Given the description of an element on the screen output the (x, y) to click on. 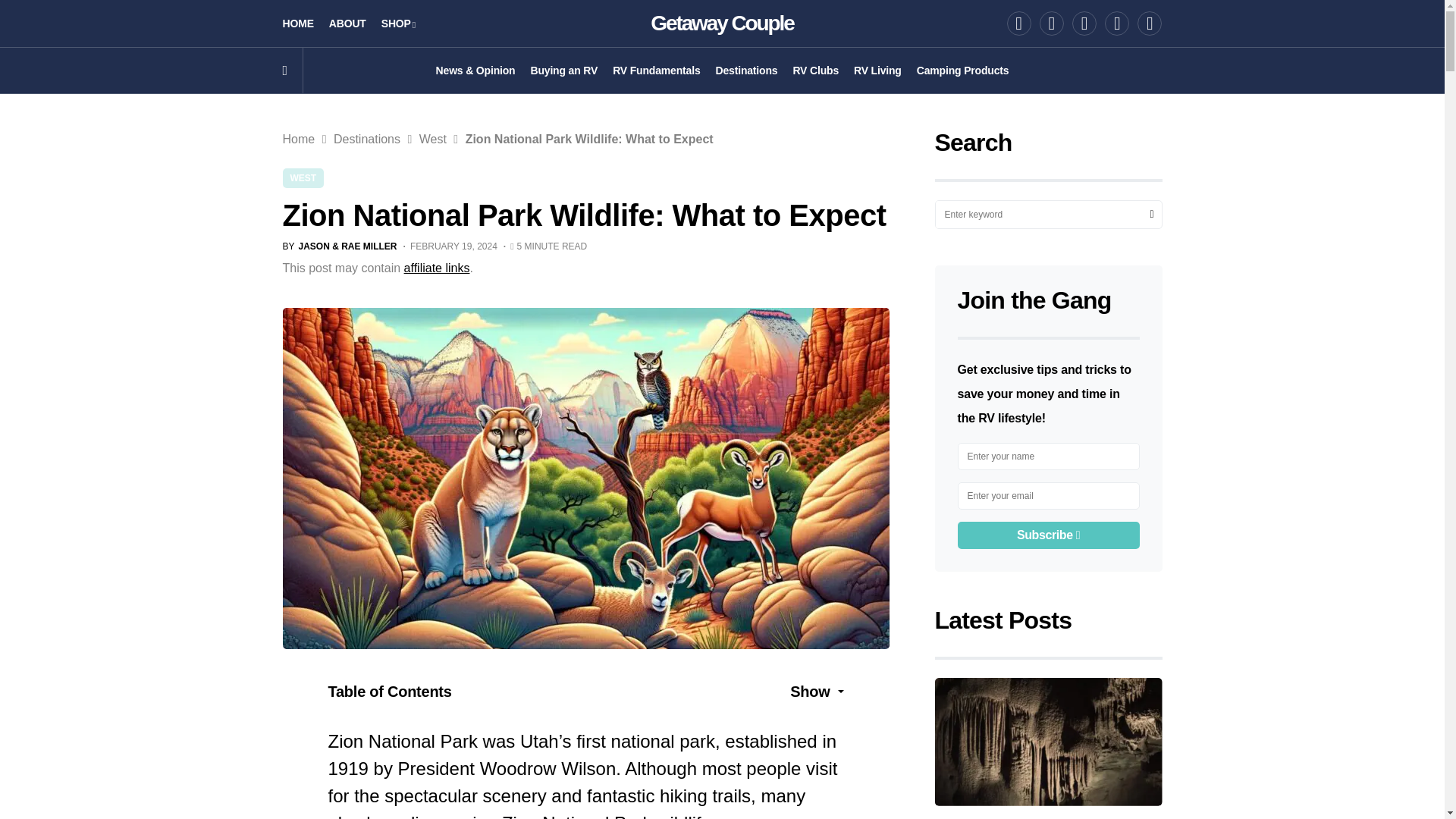
RV Clubs (815, 70)
Home (298, 138)
Destinations (746, 70)
RV Living (877, 70)
RV Fundamentals (656, 70)
Camping Products (963, 70)
Buying an RV (562, 70)
Getaway Couple (721, 23)
